Given the description of an element on the screen output the (x, y) to click on. 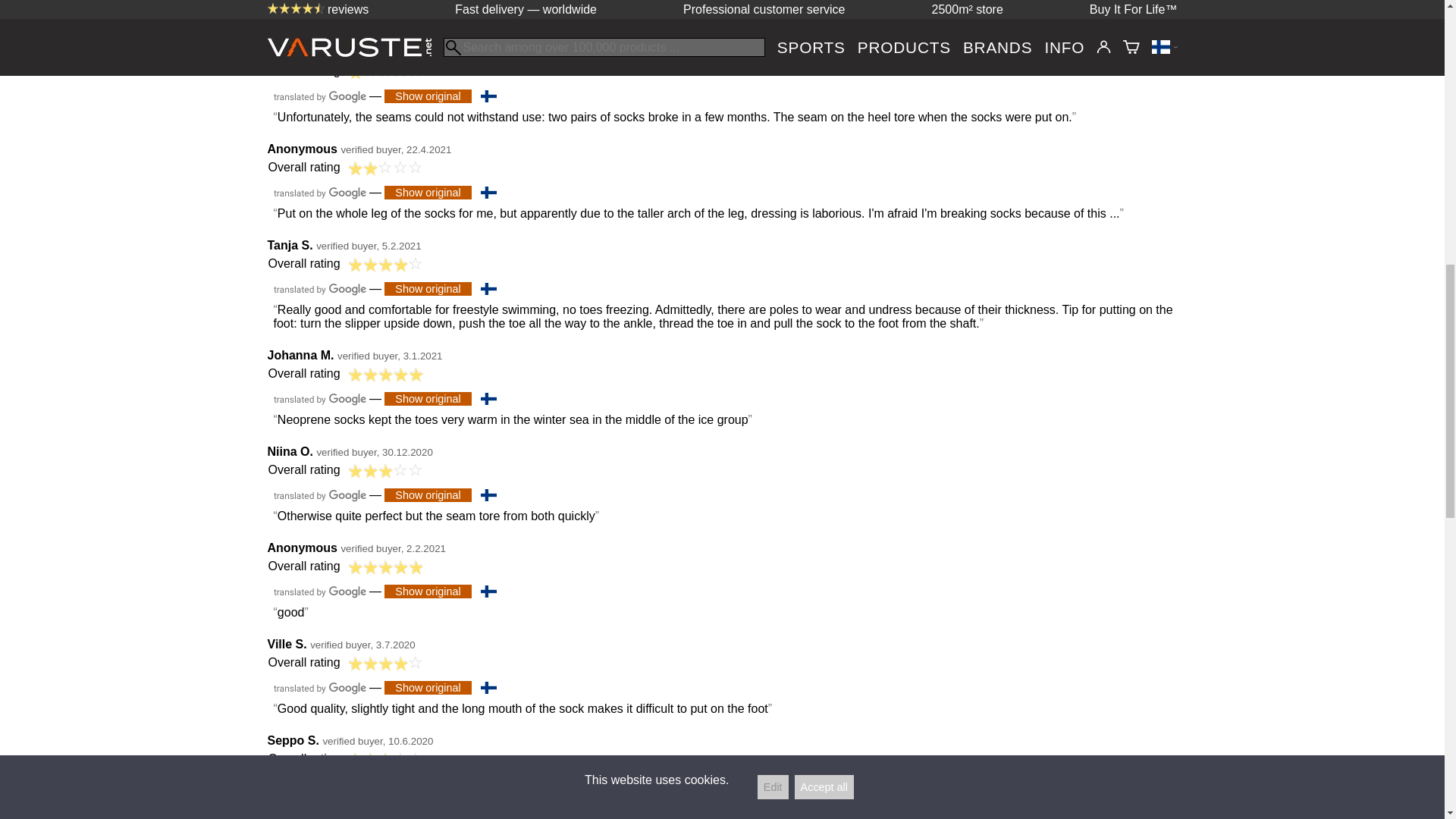
Finnish (488, 288)
Finnish (488, 192)
Finnish (488, 398)
Finnish (488, 96)
Finnish (488, 687)
Finnish (488, 591)
Finnish (488, 494)
